Given the description of an element on the screen output the (x, y) to click on. 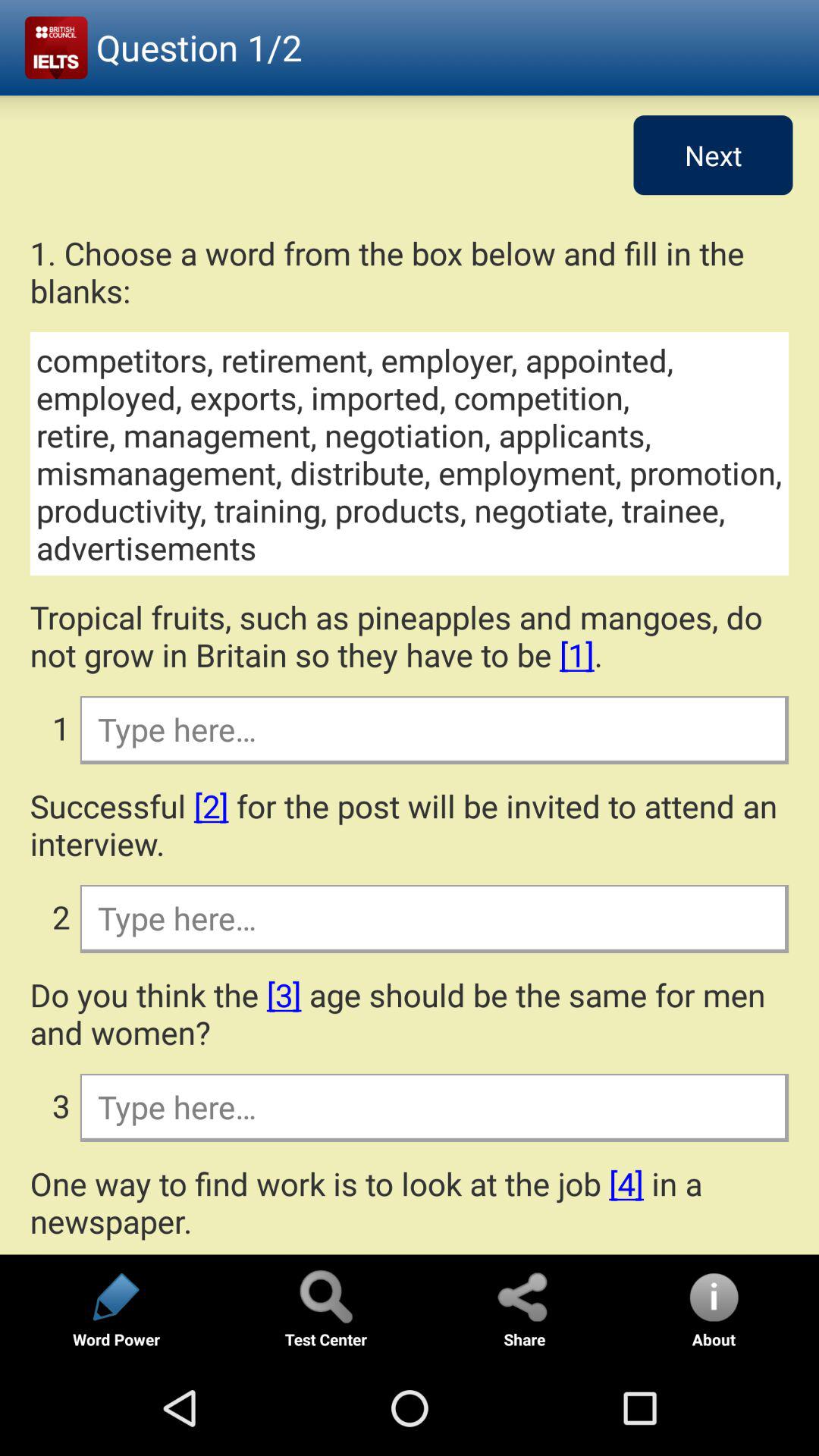
blank column (432, 728)
